Given the description of an element on the screen output the (x, y) to click on. 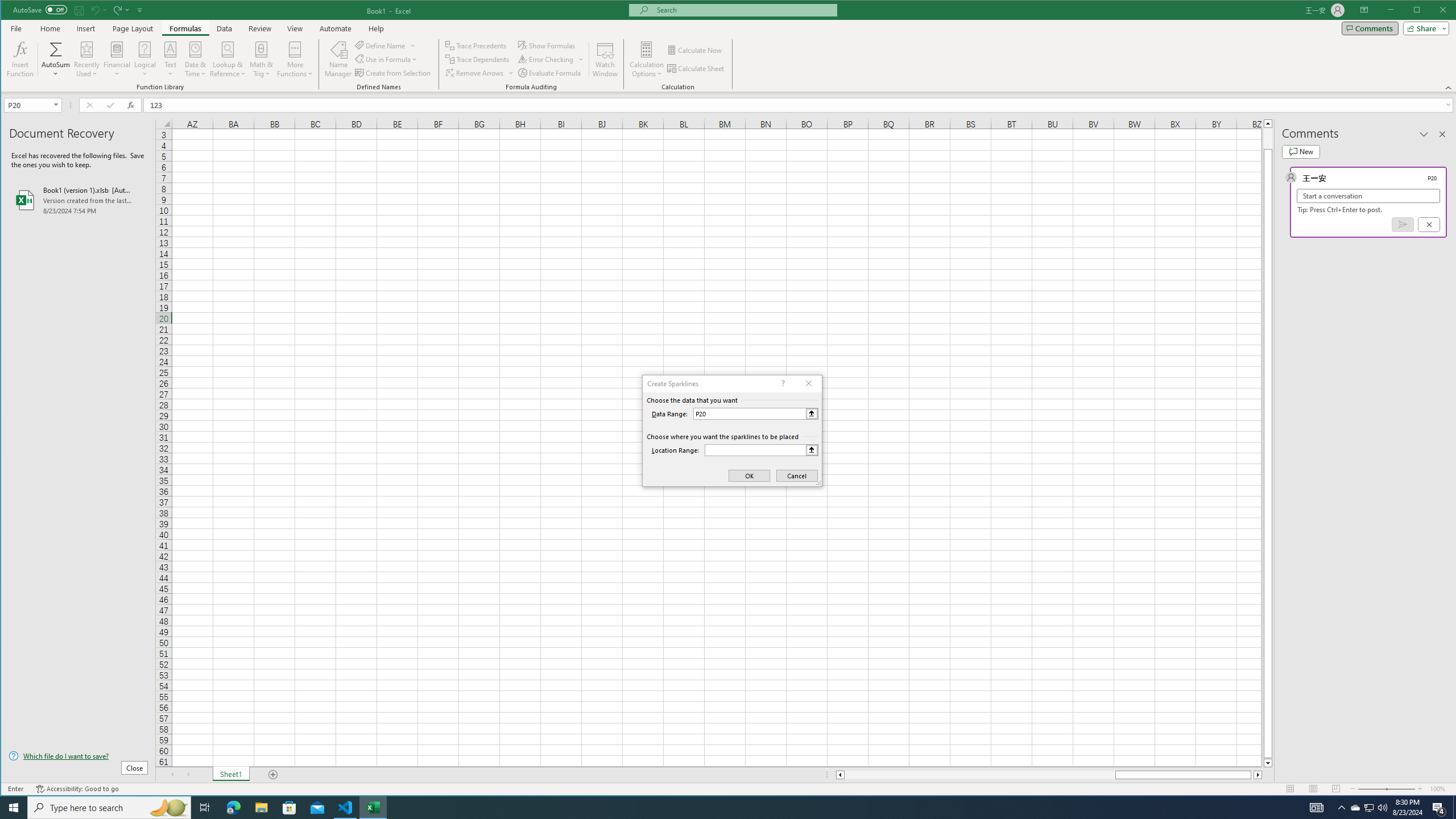
Watch Window (604, 59)
Define Name (385, 45)
Create from Selection... (393, 72)
Which file do I want to save? (78, 755)
Maximize (1432, 11)
Error Checking... (546, 59)
Calculate Now (695, 49)
